Given the description of an element on the screen output the (x, y) to click on. 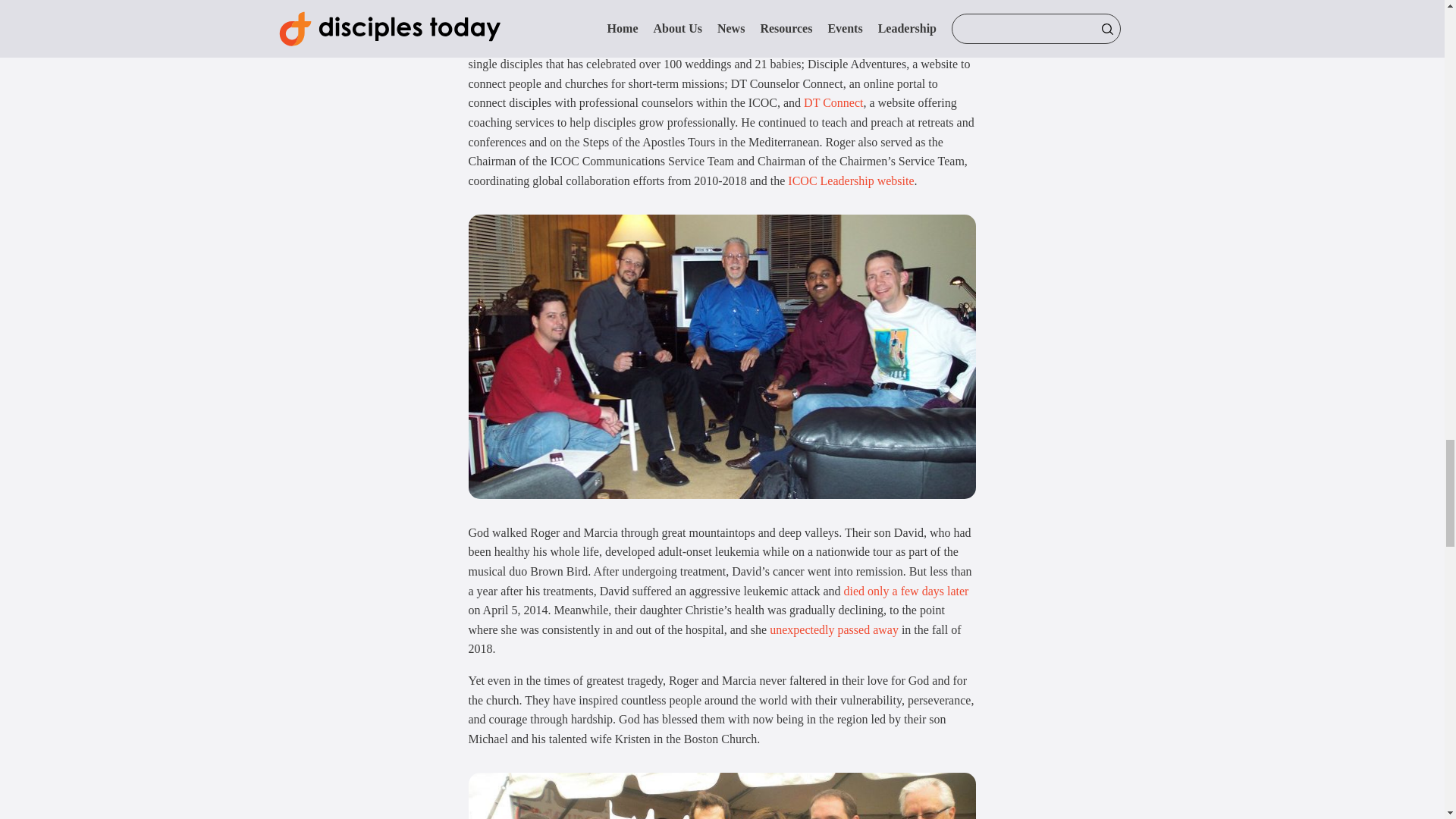
died only a few days later (906, 590)
unexpectedly passed away (834, 629)
DT Connect (833, 102)
ICOC Leadership website (850, 180)
